Given the description of an element on the screen output the (x, y) to click on. 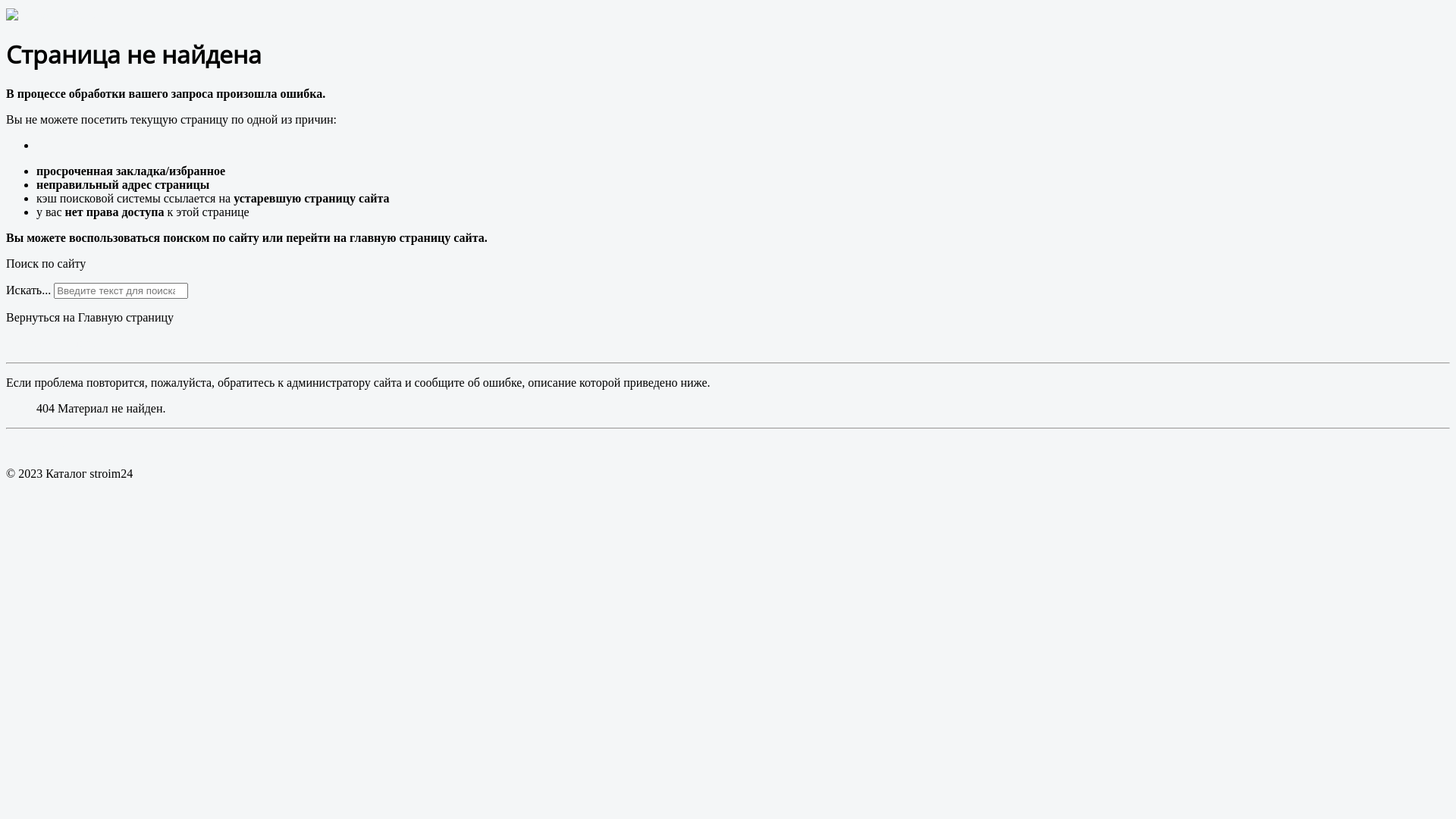
Back to Top Element type: text (35, 447)
